Given the description of an element on the screen output the (x, y) to click on. 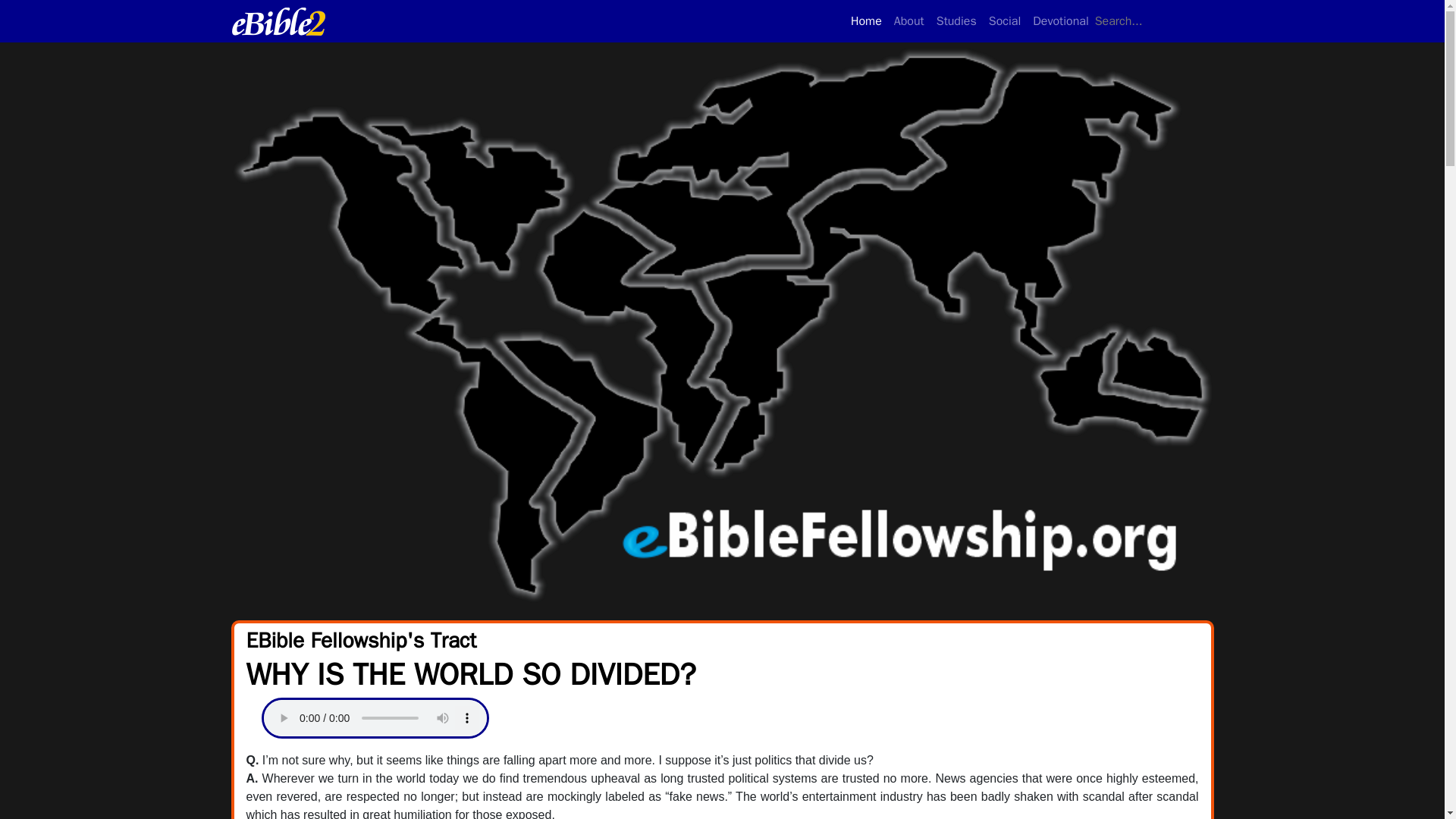
Studies (956, 20)
WHY IS THE WORLD SO DIVIDED? (969, 20)
Home (1060, 20)
About (866, 20)
Social (909, 20)
